Given the description of an element on the screen output the (x, y) to click on. 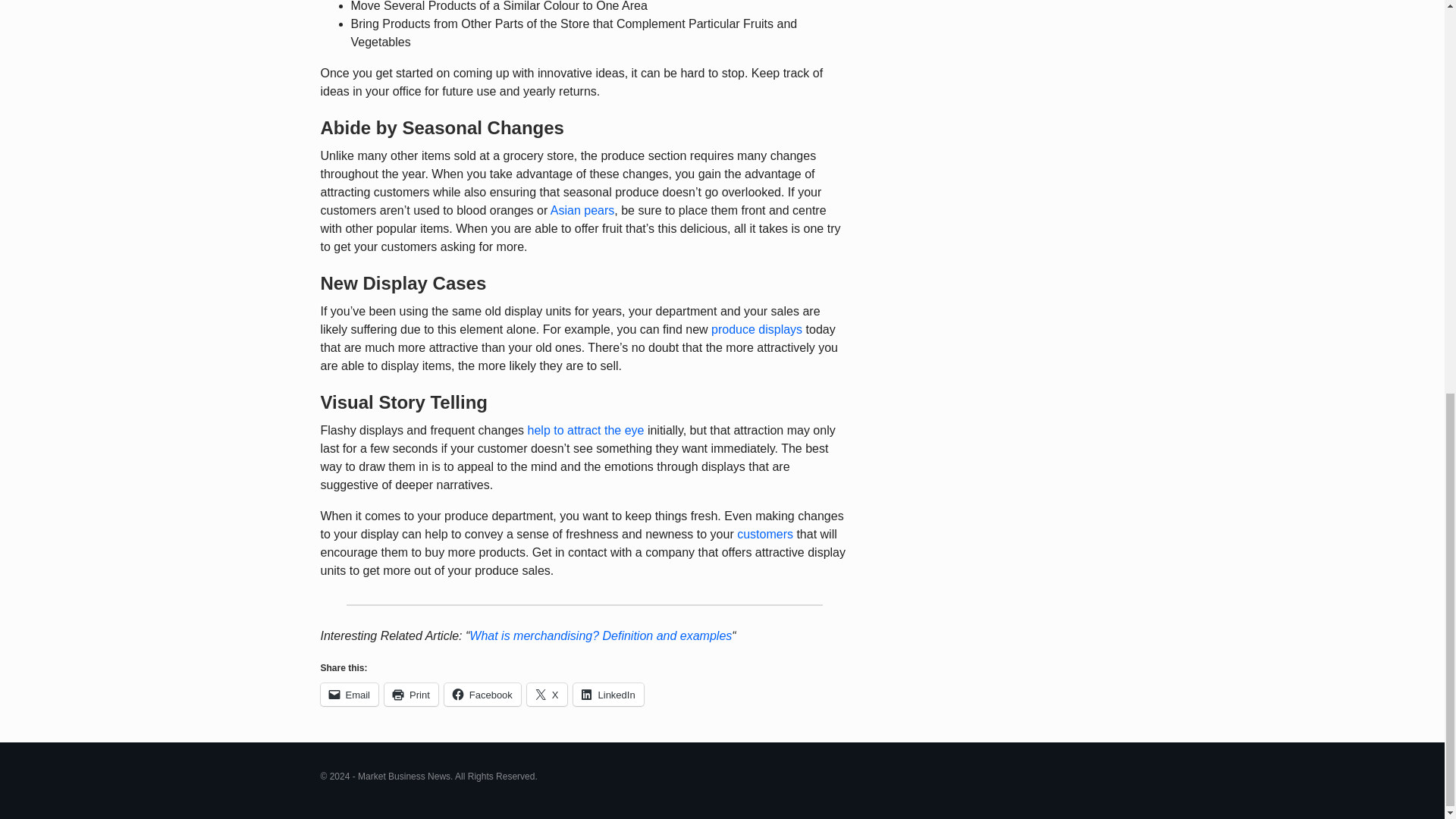
Facebook (482, 694)
Print (411, 694)
Click to email a link to a friend (349, 694)
Email (349, 694)
LinkedIn (608, 694)
customers (764, 533)
What is merchandising? Definition and examples (600, 635)
produce displays (756, 328)
Click to print (411, 694)
Click to share on X (547, 694)
